Given the description of an element on the screen output the (x, y) to click on. 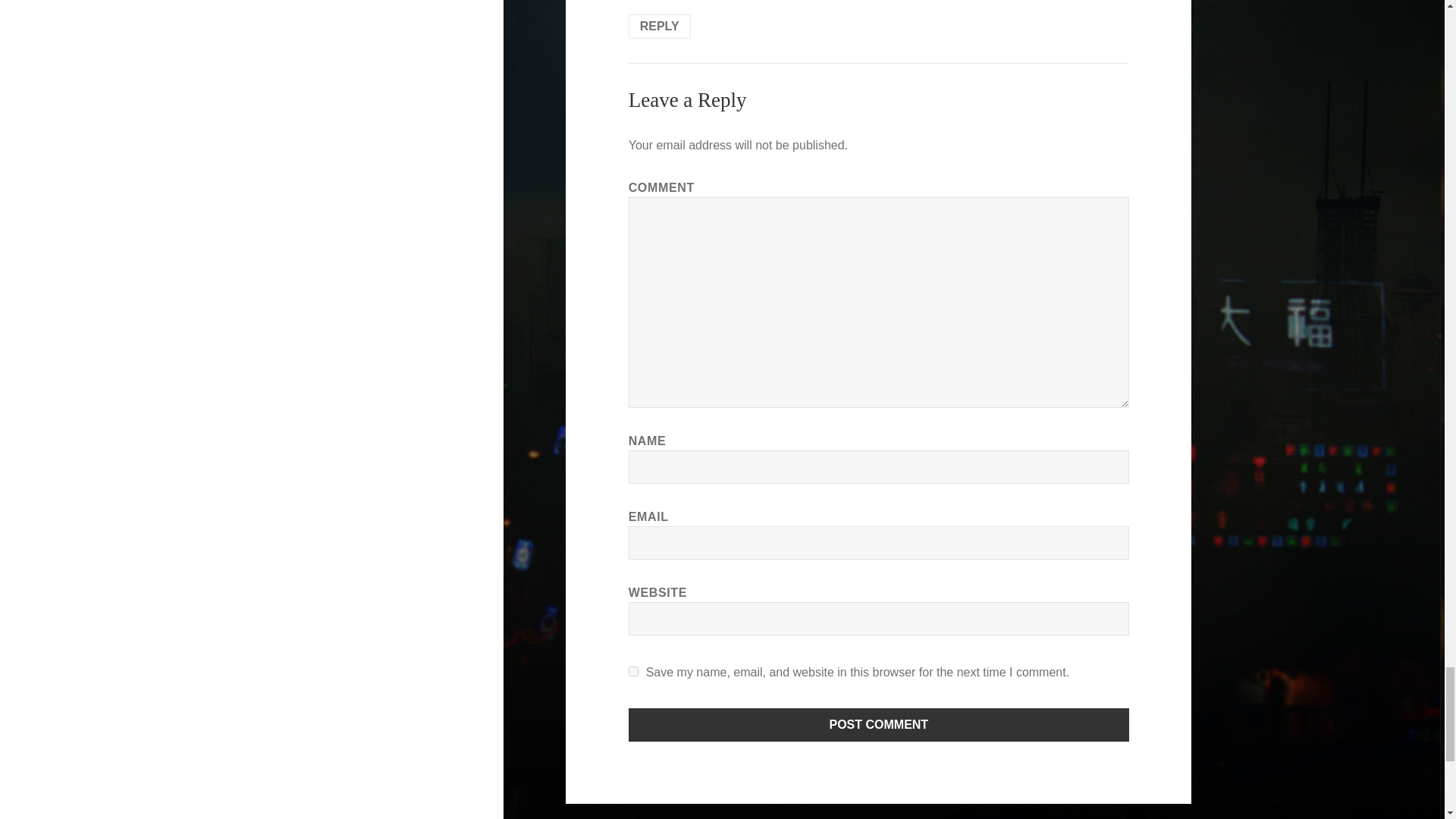
yes (633, 671)
Post Comment (878, 725)
